Given the description of an element on the screen output the (x, y) to click on. 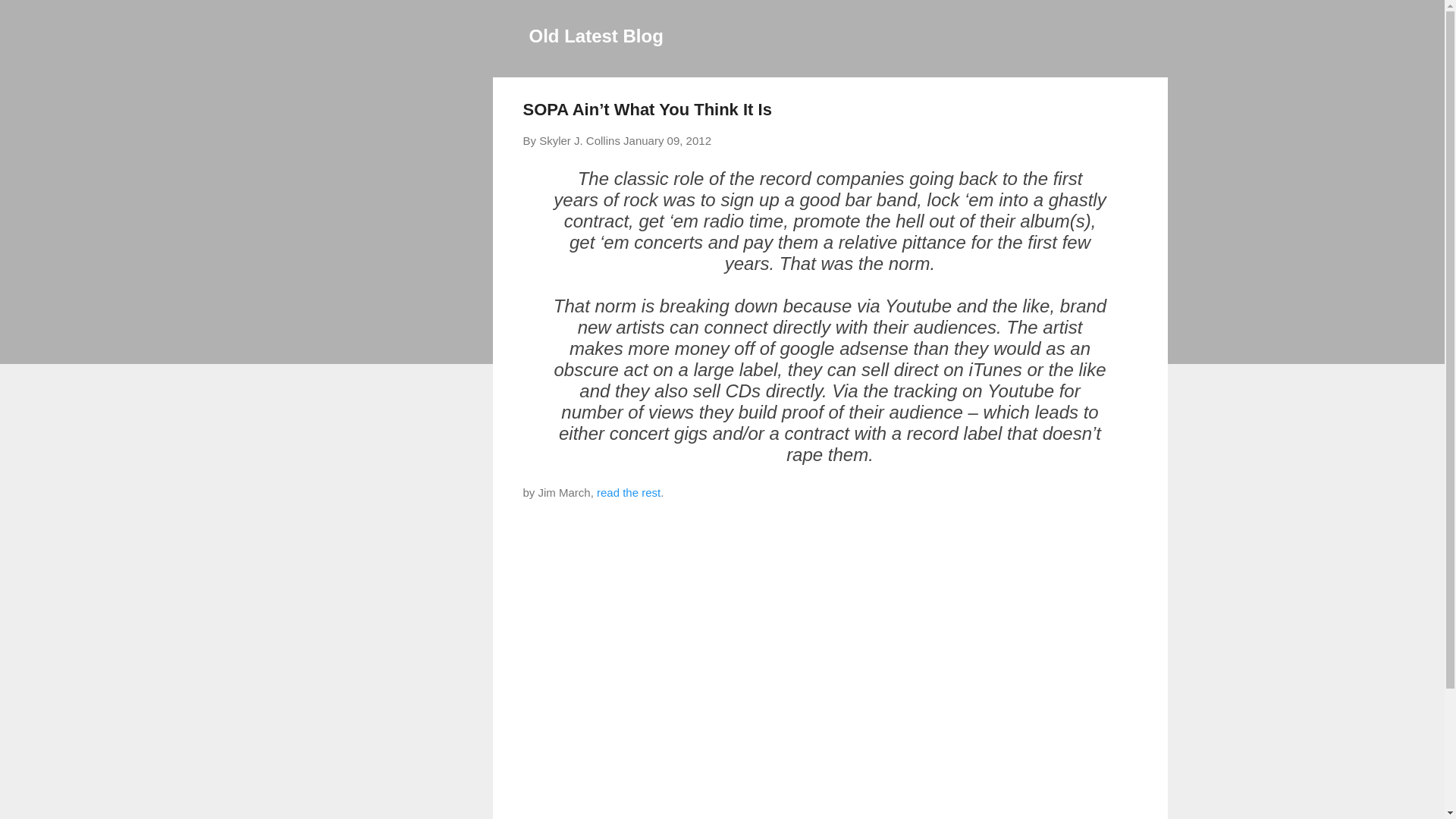
January 09, 2012 (667, 140)
permanent link (667, 140)
Search (29, 18)
Old Latest Blog (596, 35)
read the rest (628, 492)
